Given the description of an element on the screen output the (x, y) to click on. 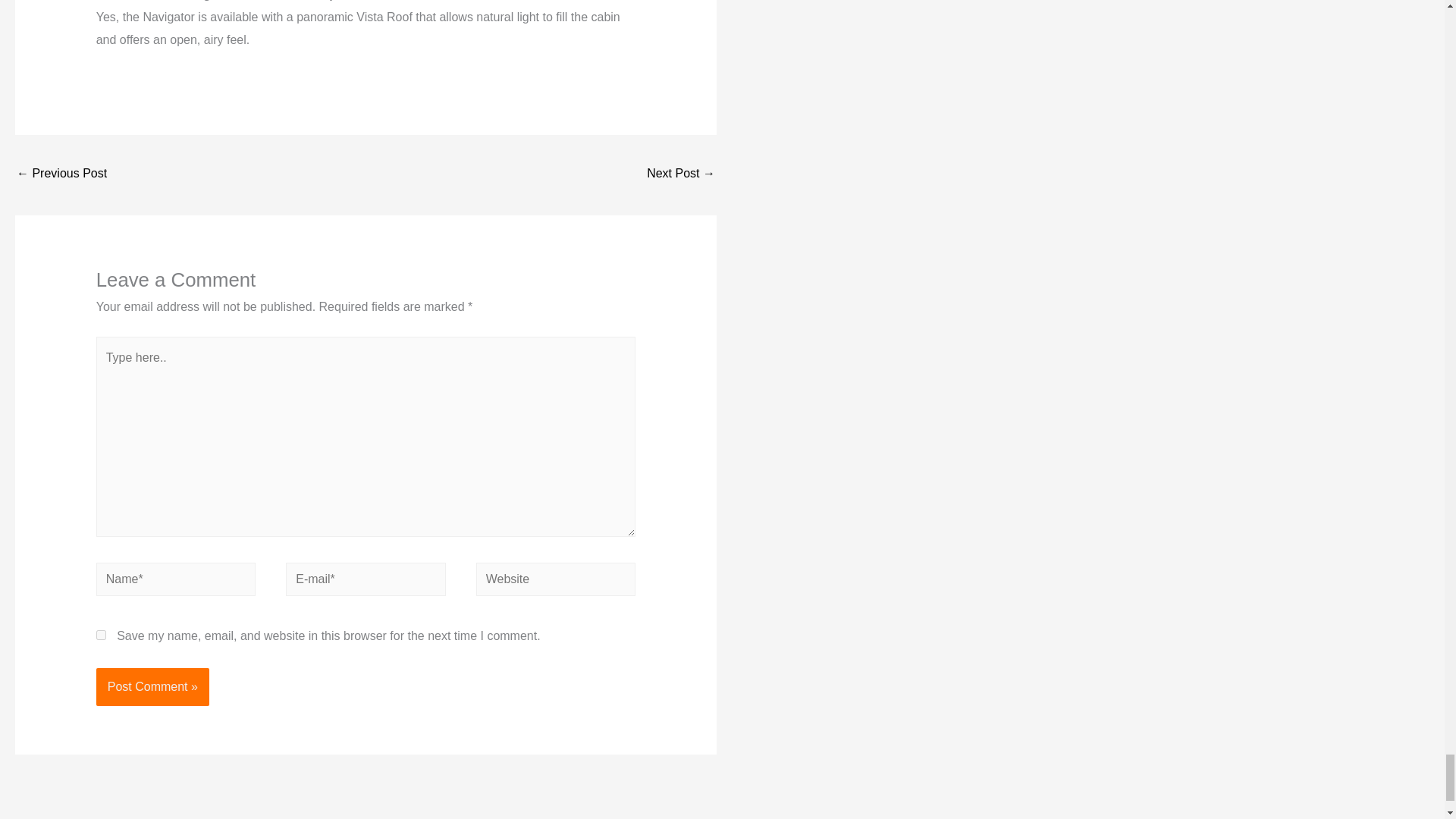
yes (101, 634)
2024 GMC Yukon Denali Price in India, Specs, Mileage, Images (680, 174)
